Given the description of an element on the screen output the (x, y) to click on. 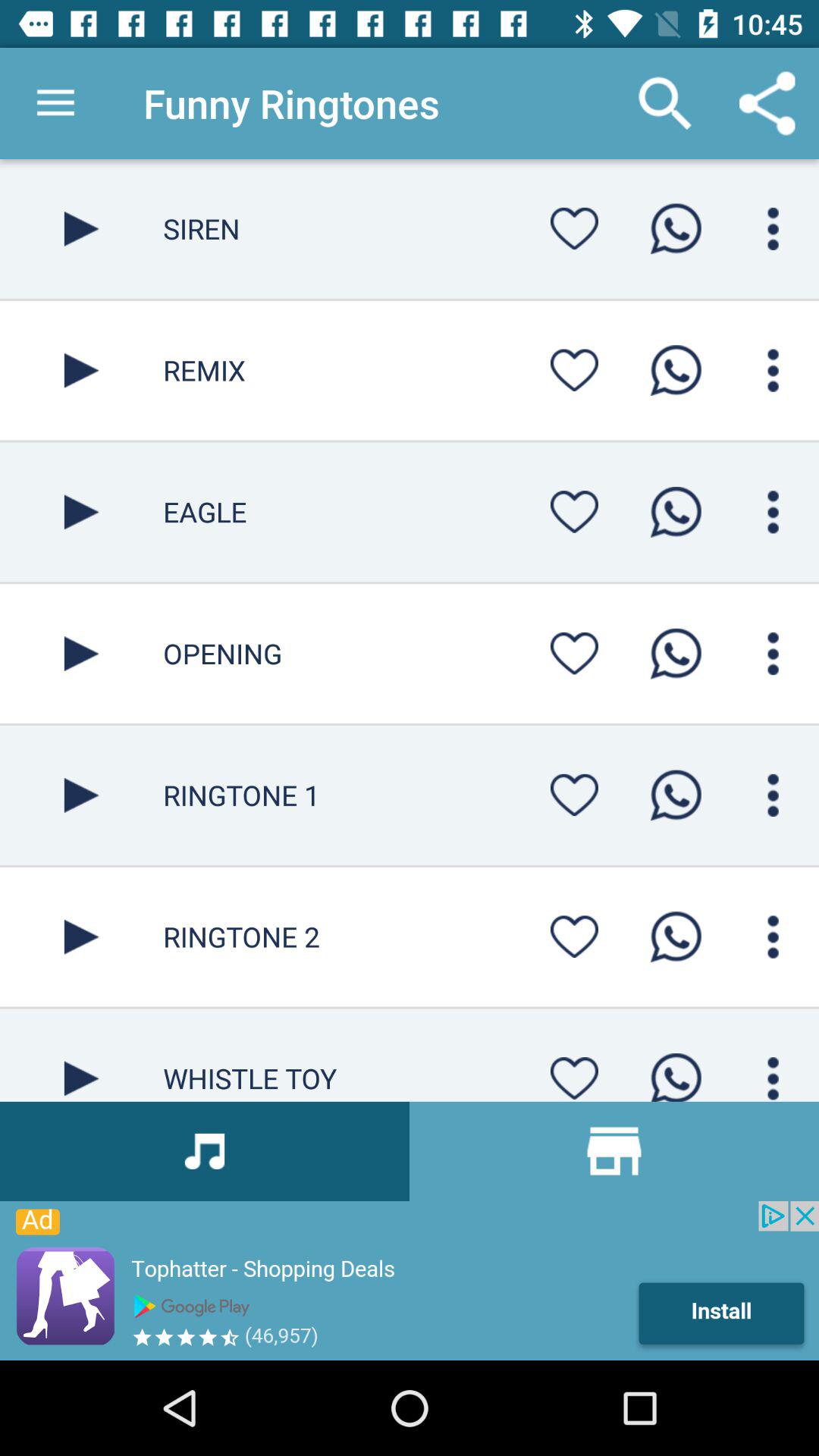
whatsapp calling page (773, 228)
